Given the description of an element on the screen output the (x, y) to click on. 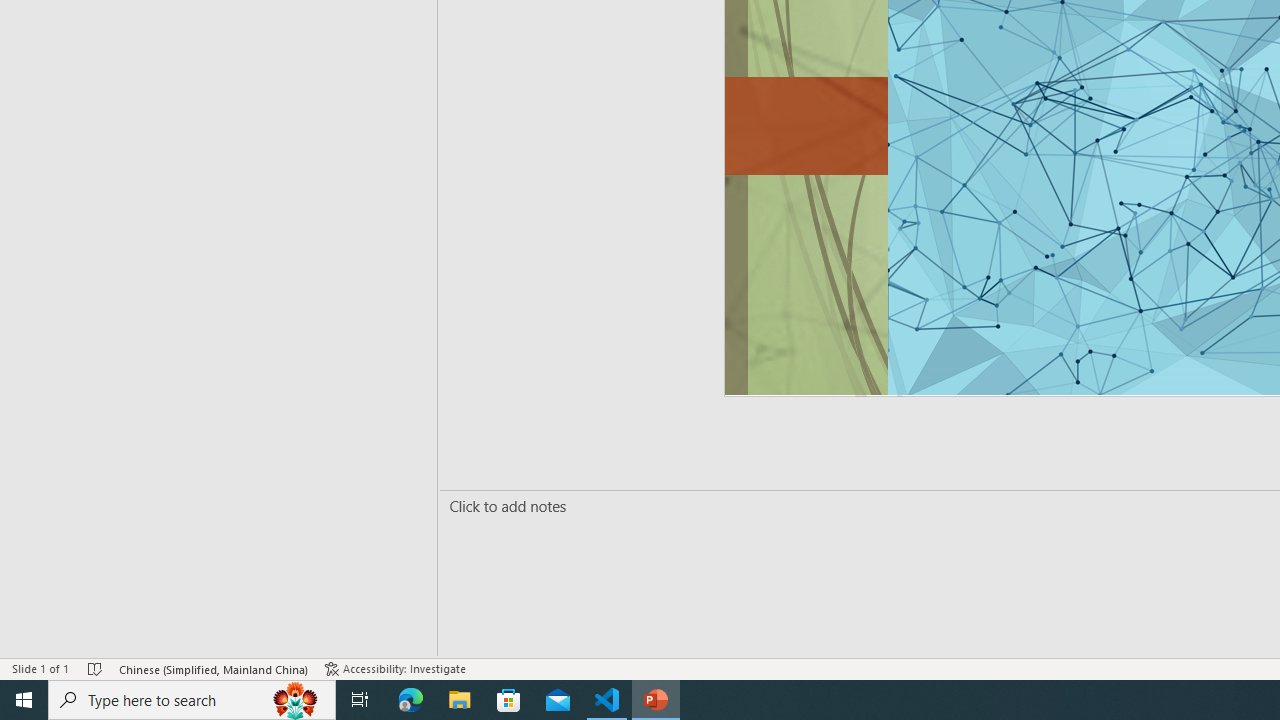
Accessibility Checker Accessibility: Investigate (397, 668)
Spell Check No Errors (95, 668)
